Given the description of an element on the screen output the (x, y) to click on. 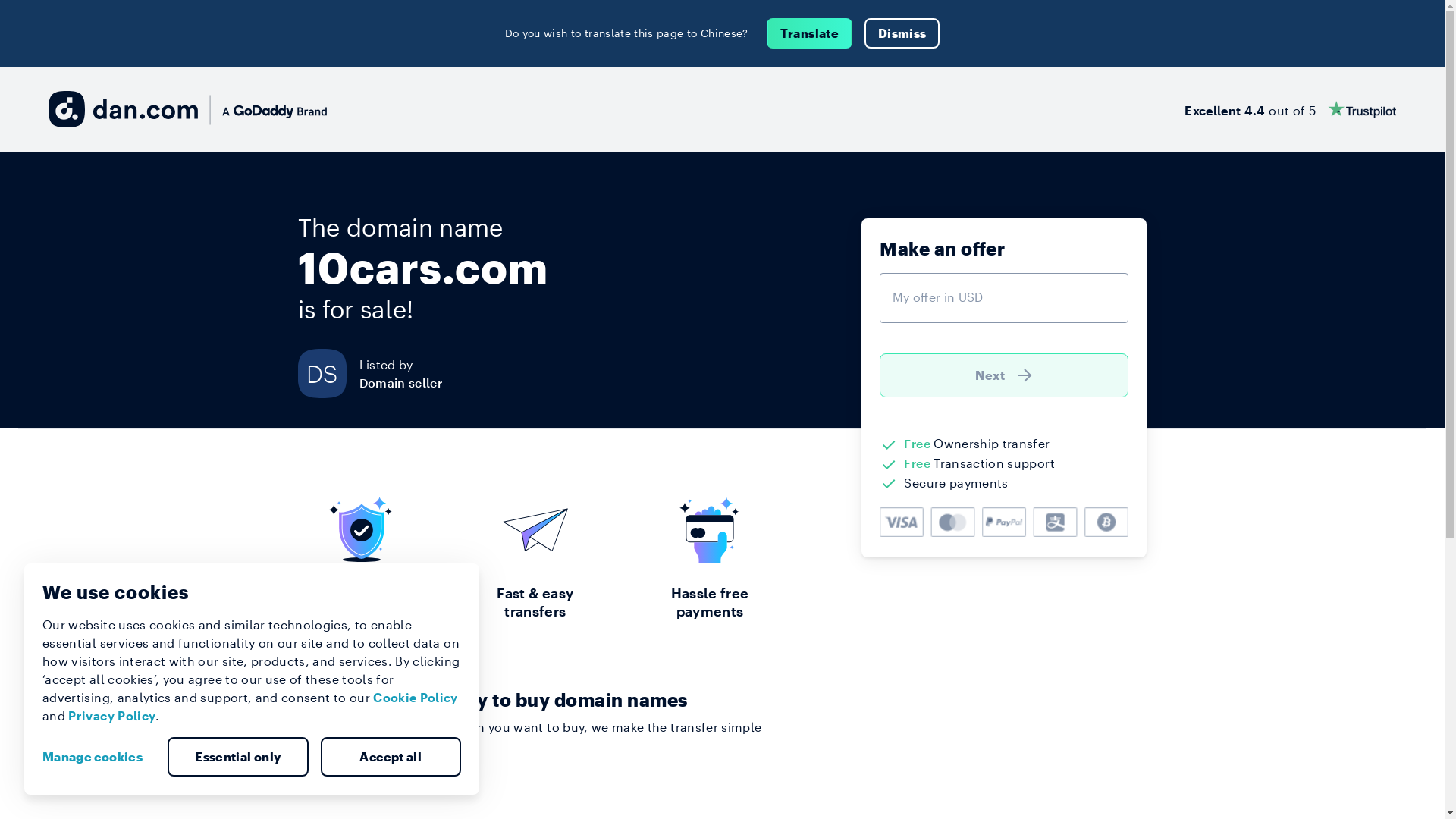
Dismiss Element type: text (901, 33)
Essential only Element type: text (237, 756)
Privacy Policy Element type: text (111, 715)
Next
) Element type: text (1003, 375)
Translate Element type: text (809, 33)
Accept all Element type: text (390, 756)
Manage cookies Element type: text (98, 756)
Cookie Policy Element type: text (415, 697)
Excellent 4.4 out of 5 Element type: text (1290, 109)
